Given the description of an element on the screen output the (x, y) to click on. 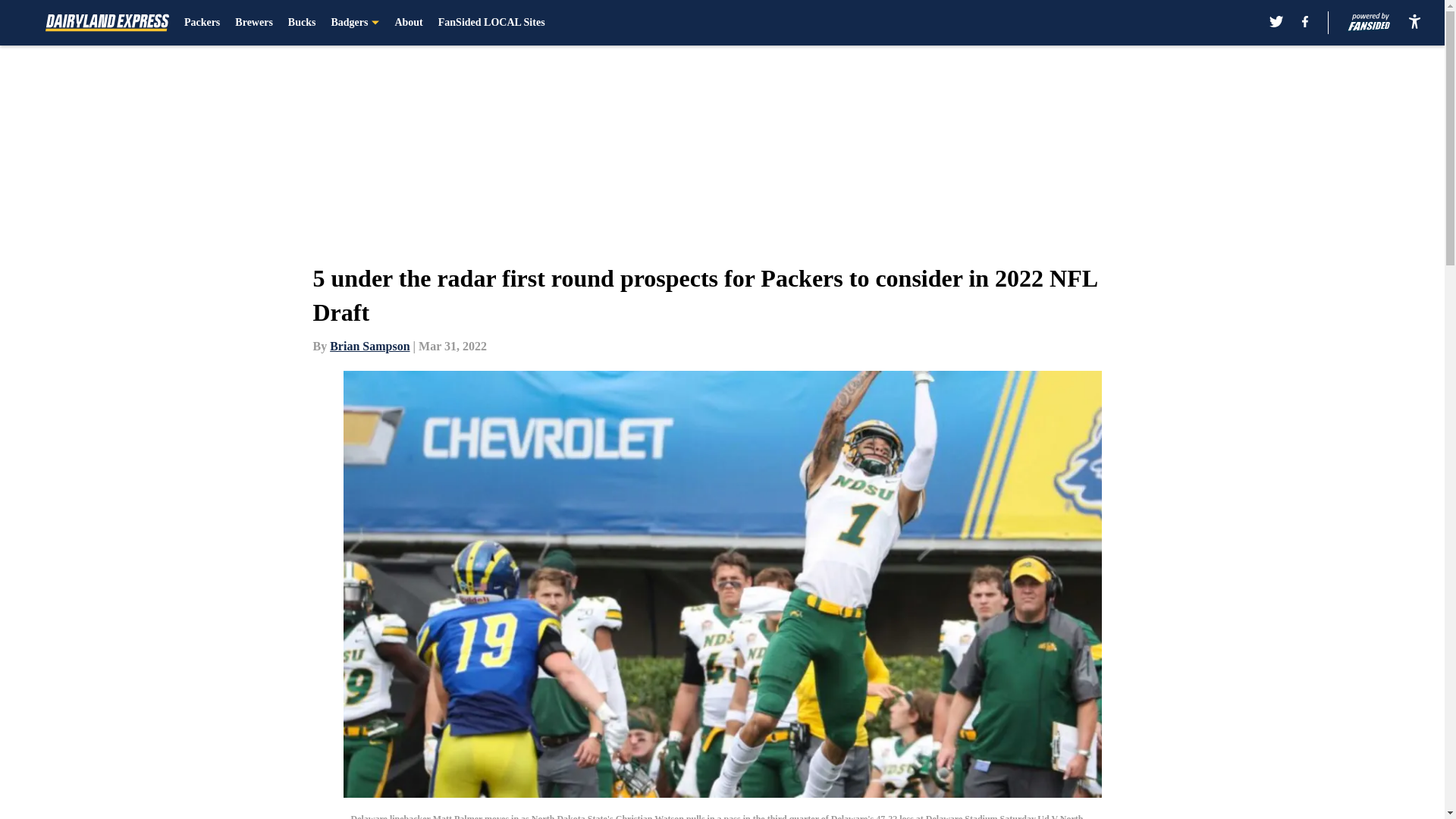
Brewers (253, 22)
Packers (201, 22)
Brian Sampson (369, 345)
About (408, 22)
FanSided LOCAL Sites (491, 22)
Bucks (301, 22)
